Given the description of an element on the screen output the (x, y) to click on. 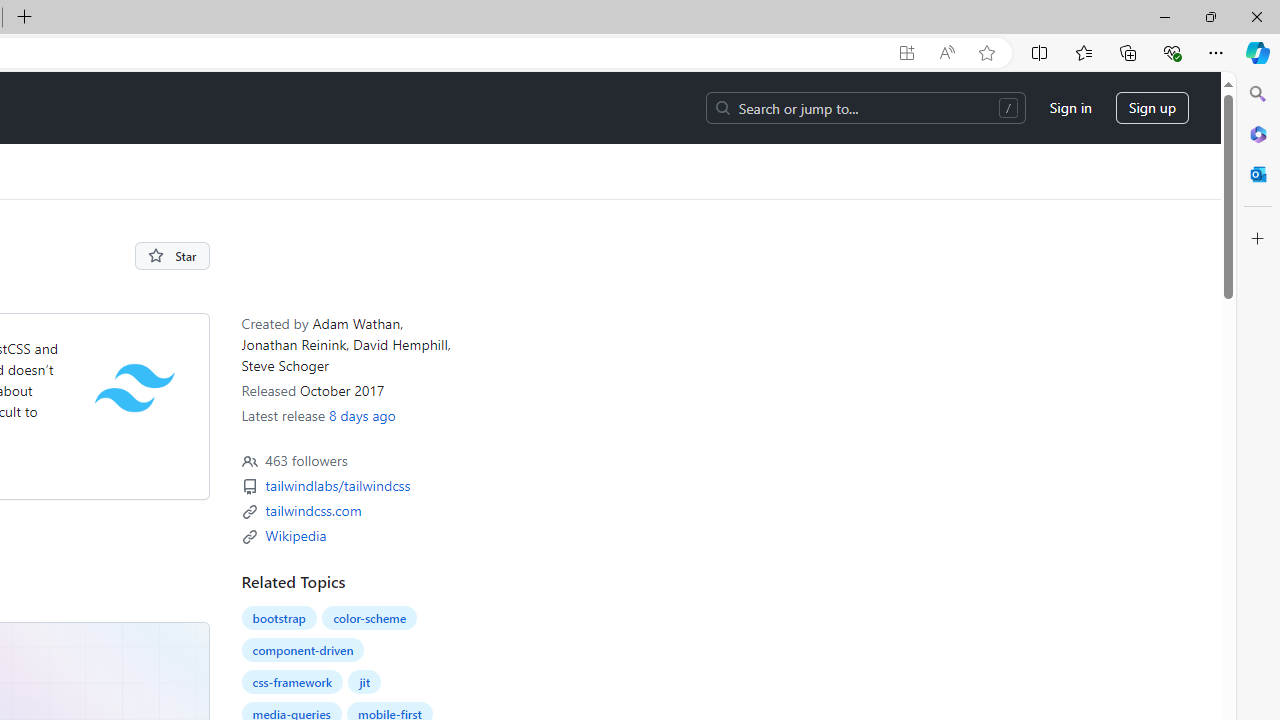
Topic followers (249, 462)
jit (364, 682)
bootstrap (278, 618)
css-framework (292, 682)
8 days ago (361, 415)
App available. Install GitHub (906, 53)
tailwind logo (134, 387)
